Given the description of an element on the screen output the (x, y) to click on. 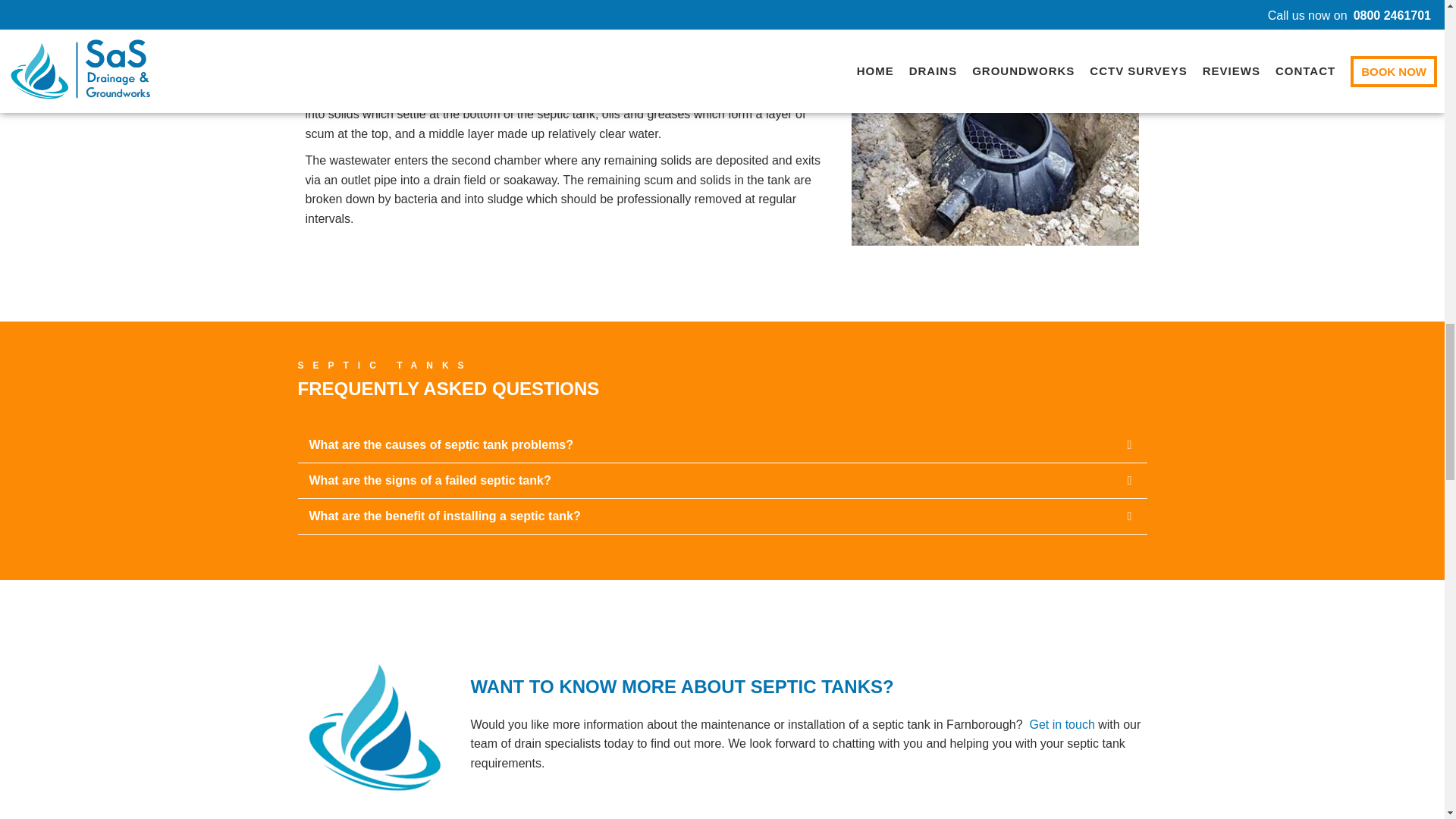
Contact septic tank installation company (1061, 724)
Septic Tank Installation and Repair Service (994, 150)
